Given the description of an element on the screen output the (x, y) to click on. 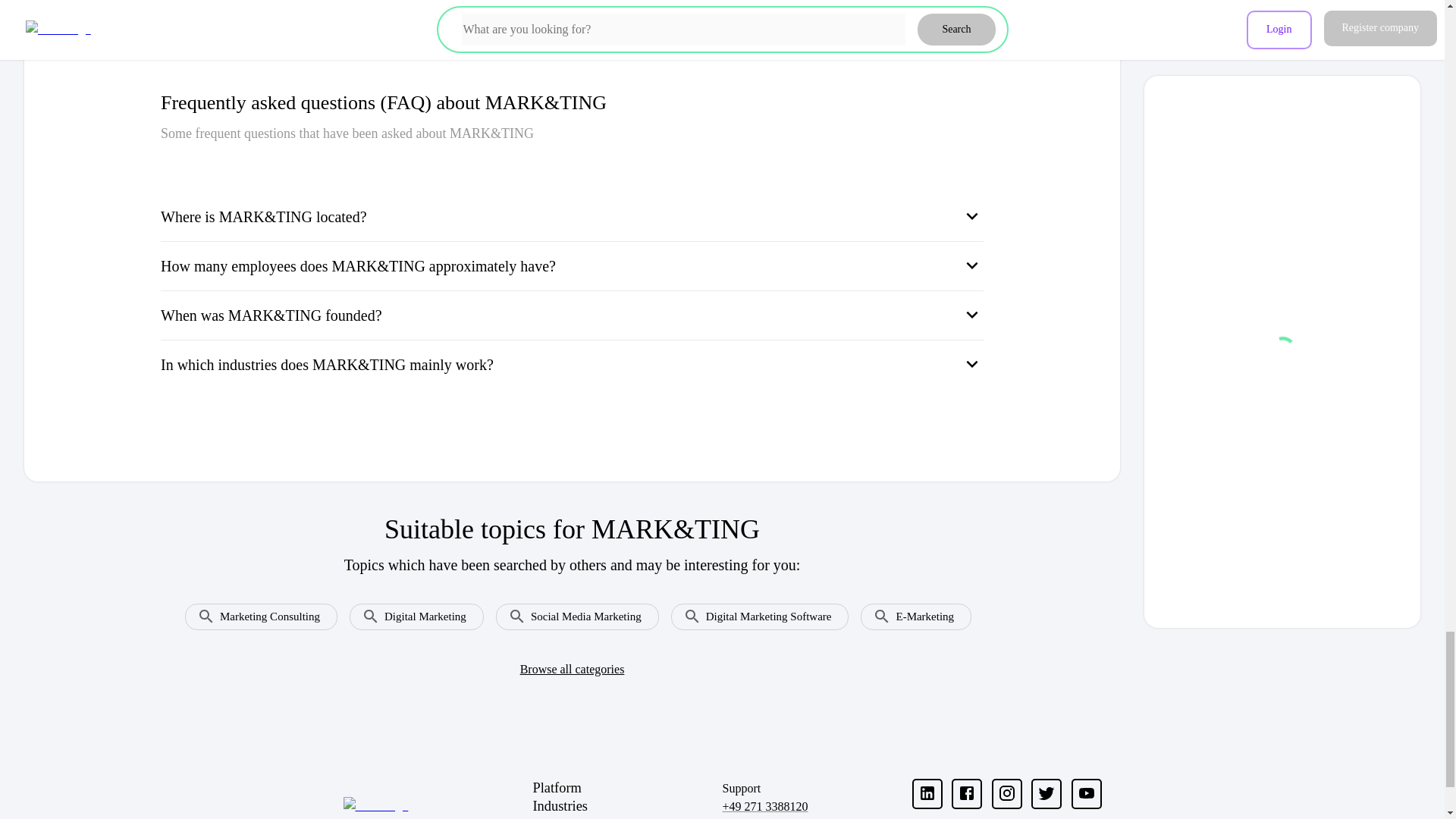
View all locations (929, 10)
Marketing Consulting (255, 610)
Digital Marketing (410, 610)
Browse all categories (571, 669)
Case studies (627, 817)
Digital Marketing Software (753, 610)
Social Media Marketing (571, 610)
Platform (627, 787)
Industries (627, 805)
E-Marketing (909, 610)
